Given the description of an element on the screen output the (x, y) to click on. 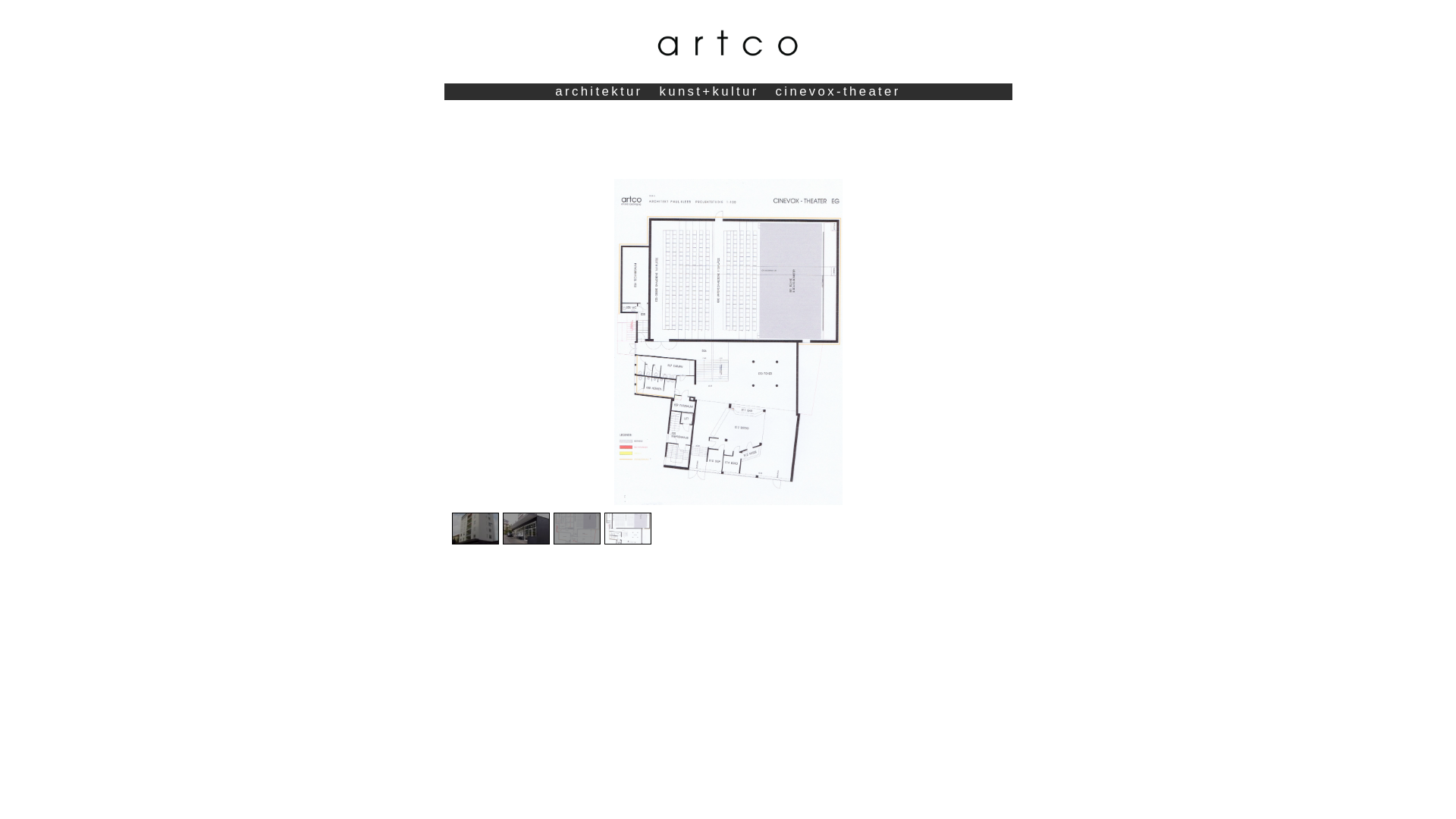
kunst+kultur Element type: text (708, 91)
cinevox-theater Element type: text (837, 91)
architektur Element type: text (598, 91)
  Element type: text (727, 99)
